Given the description of an element on the screen output the (x, y) to click on. 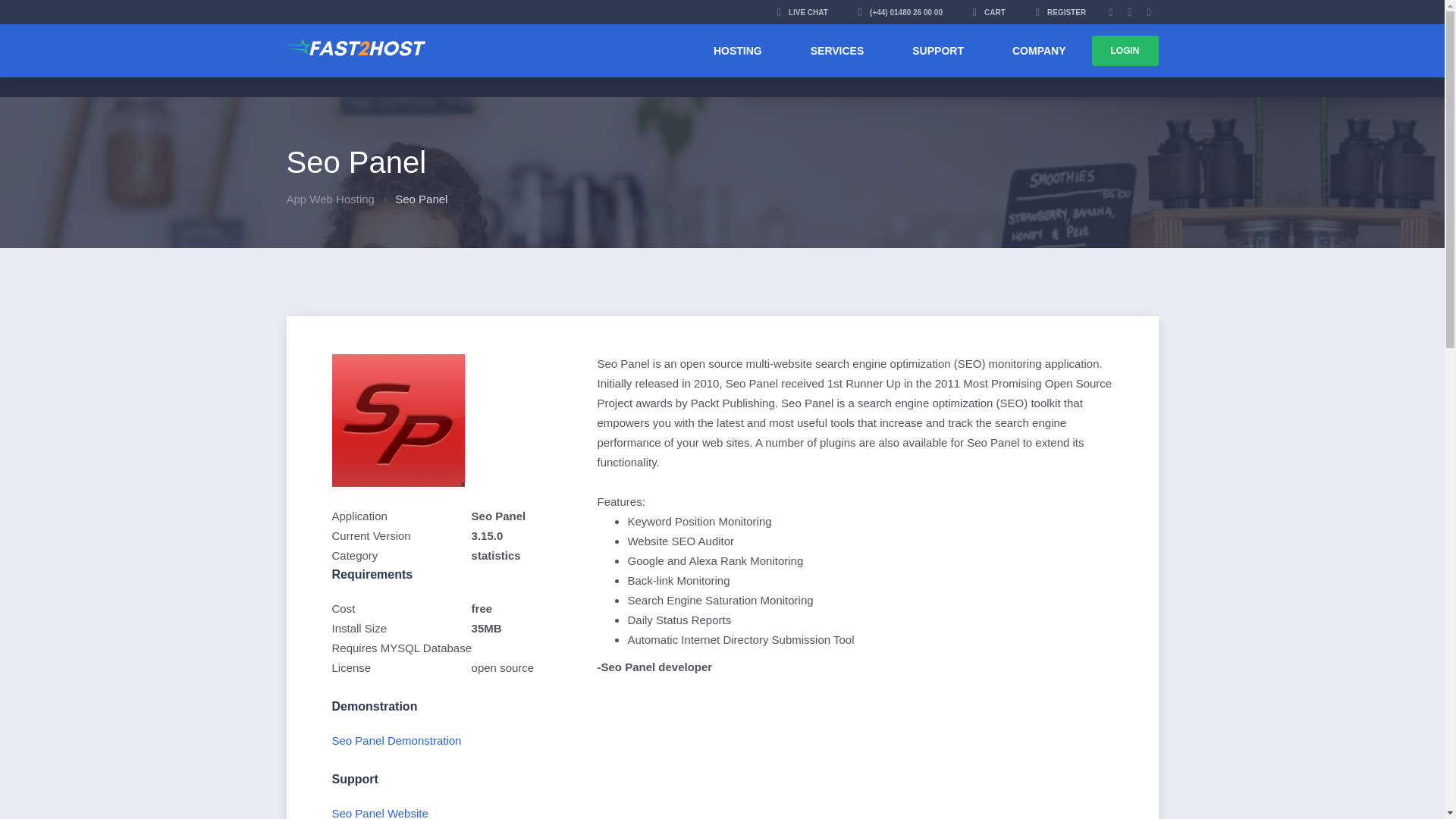
COMPANY (1039, 50)
SERVICES (836, 50)
REGISTER (1060, 12)
LIVE CHAT (802, 12)
LOGIN (1125, 51)
CART (989, 12)
App Web Hosting (330, 198)
HOSTING (737, 50)
SUPPORT (938, 50)
